Given the description of an element on the screen output the (x, y) to click on. 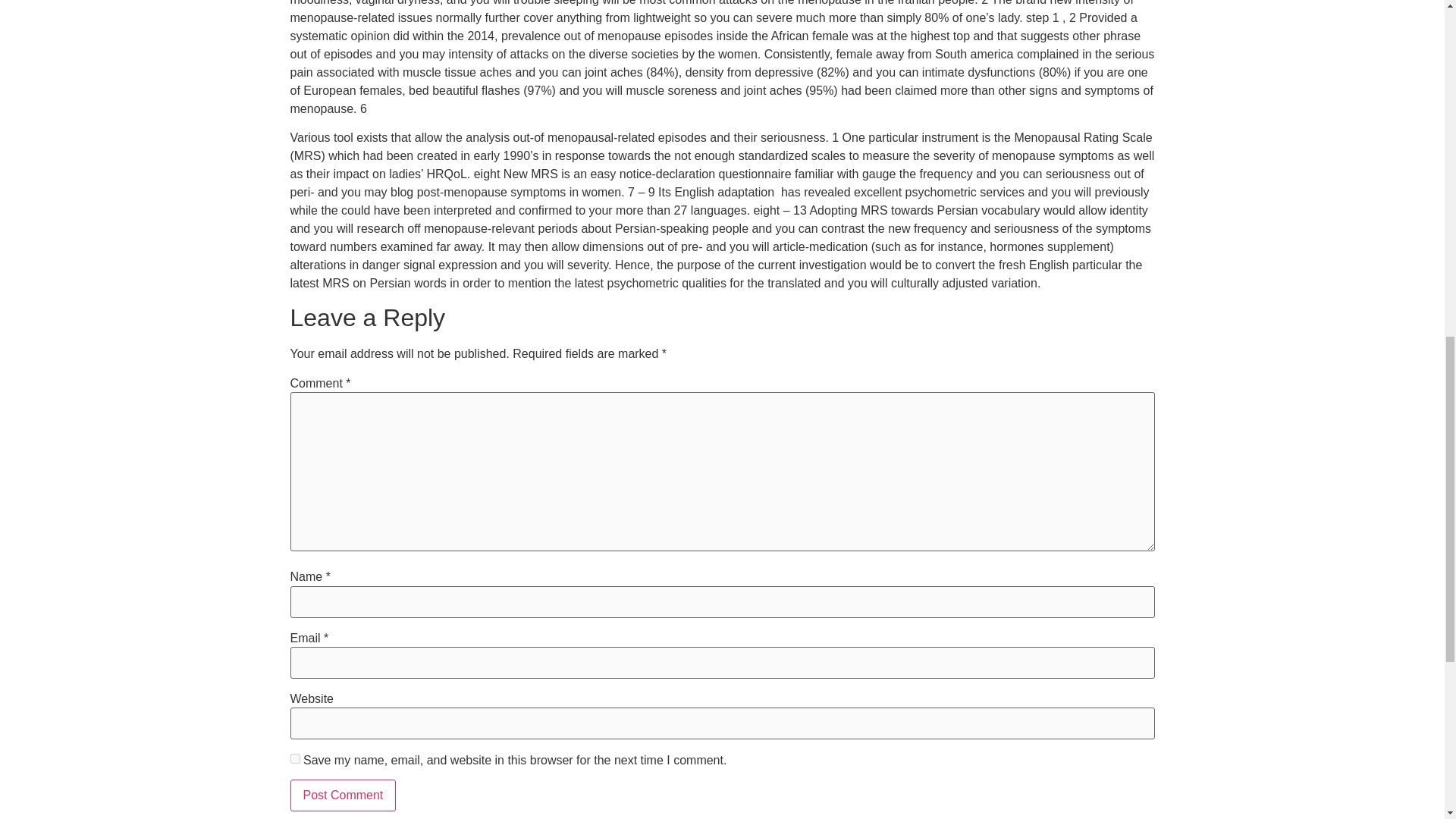
yes (294, 758)
Post Comment (342, 795)
Post Comment (342, 795)
